Given the description of an element on the screen output the (x, y) to click on. 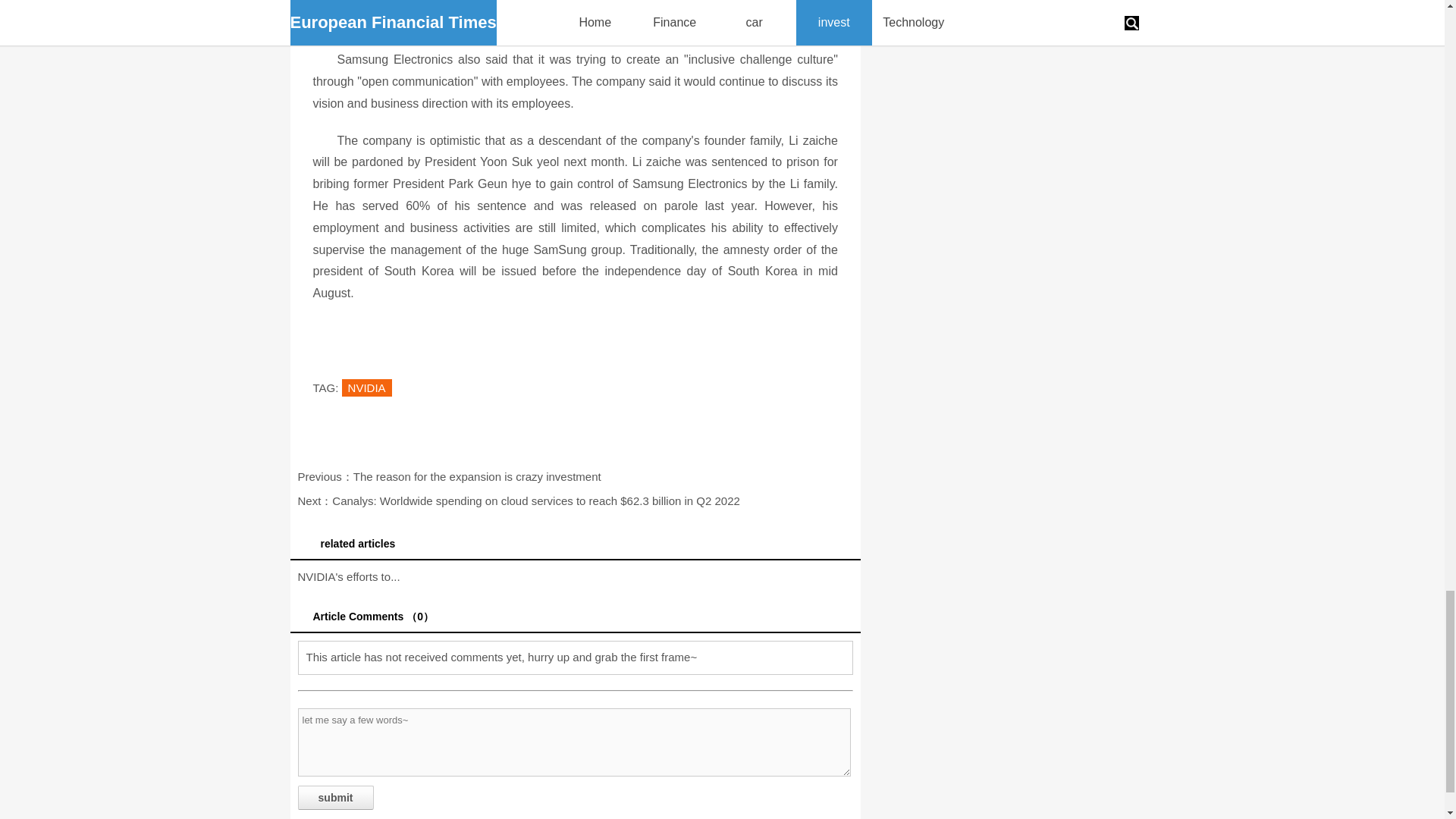
submit (334, 797)
NVIDIA (366, 387)
submit (334, 797)
The reason for the expansion is crazy investment (477, 476)
NVIDIA's efforts to... (347, 576)
